Given the description of an element on the screen output the (x, y) to click on. 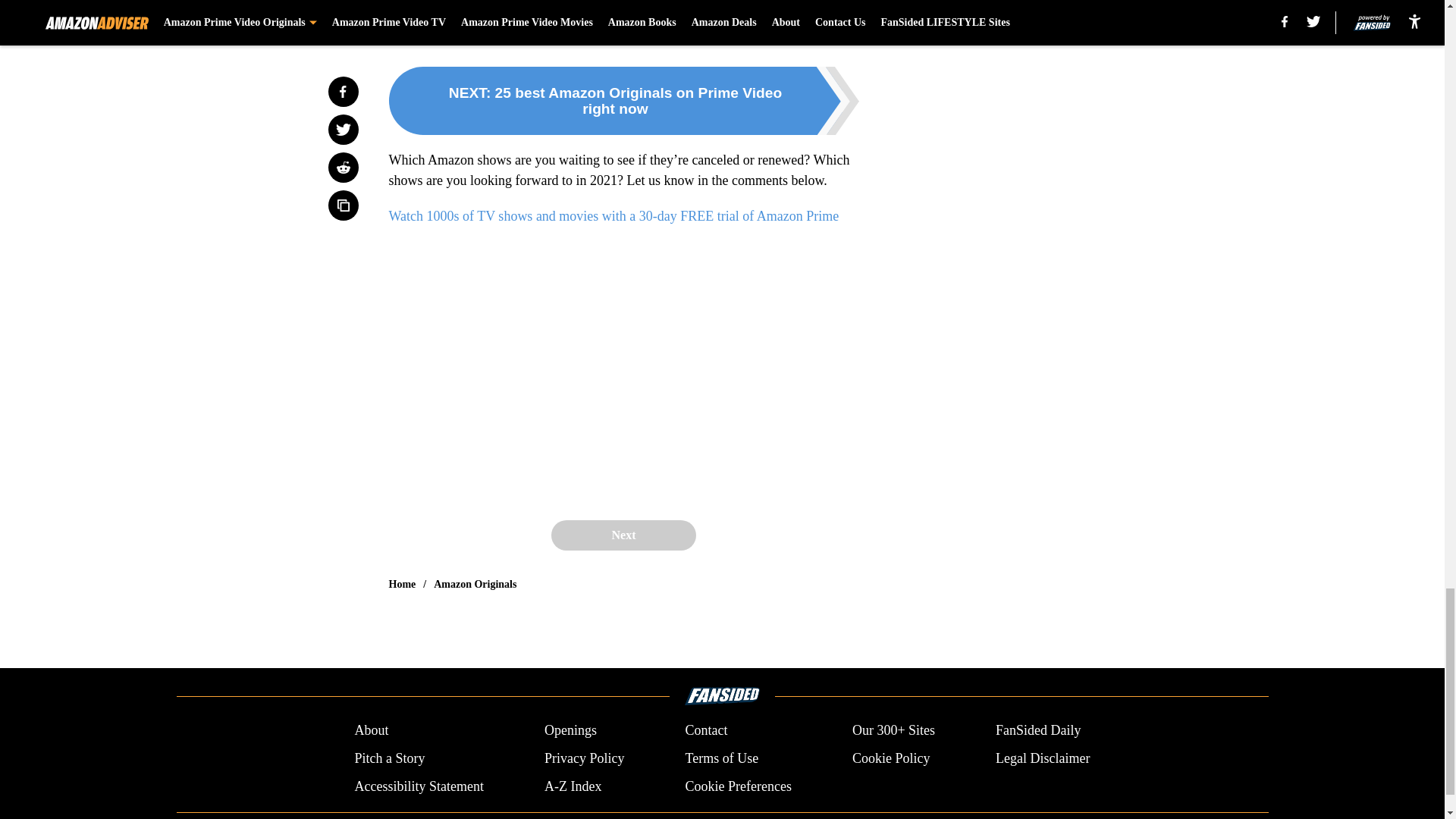
Home (401, 584)
Contact (705, 730)
Openings (570, 730)
Amazon Originals (474, 584)
About (370, 730)
Next (622, 535)
NEXT: 25 best Amazon Originals on Prime Video right now (623, 100)
